Given the description of an element on the screen output the (x, y) to click on. 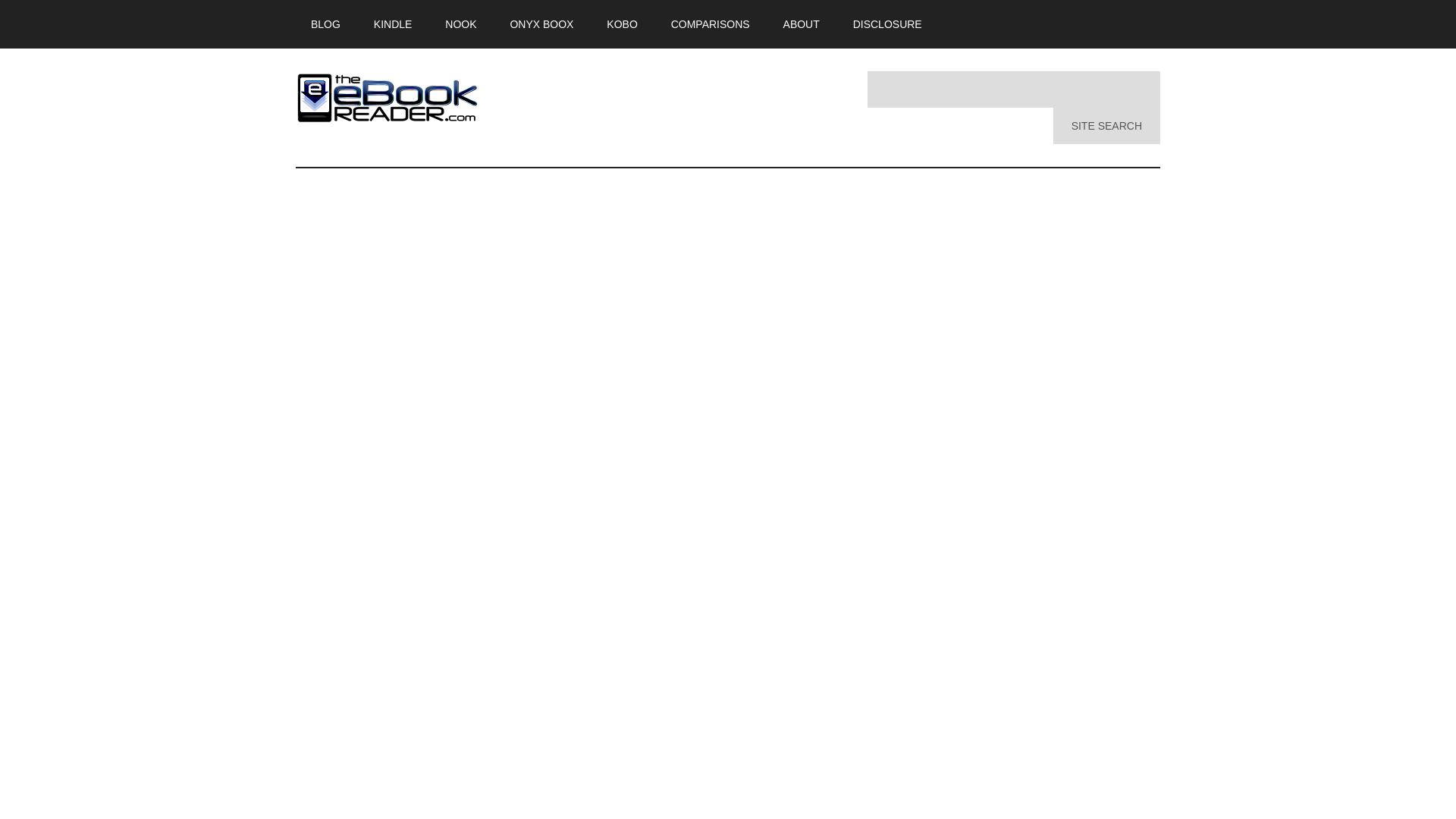
ABOUT (801, 24)
DISCLOSURE (887, 24)
KINDLE (393, 24)
NOOK (460, 24)
BLOG (325, 24)
ONYX BOOX (541, 24)
Site Search (1106, 125)
COMPARISONS (710, 24)
Site Search (1106, 125)
KOBO (621, 24)
